Given the description of an element on the screen output the (x, y) to click on. 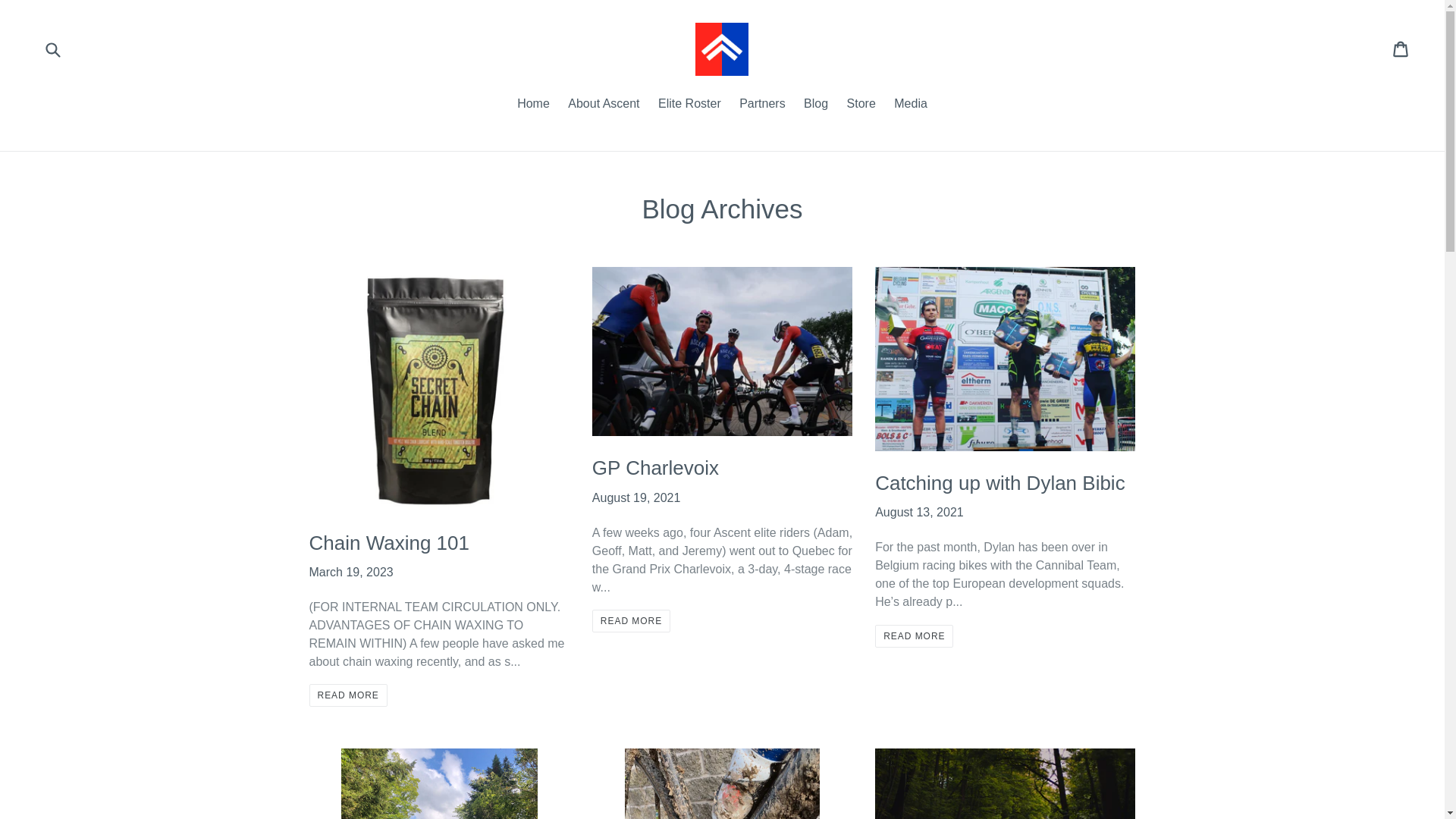
Catching up with Dylan Bibic (1000, 482)
READ MORE (630, 620)
Blog (1401, 48)
READ MORE (815, 105)
Partners (347, 694)
Submit (762, 105)
GP Charlevoix (52, 48)
Elite Roster (655, 467)
About Ascent (689, 105)
Home (603, 105)
READ MORE (533, 105)
Store (914, 635)
Media (861, 105)
Chain Waxing 101 (910, 105)
